Given the description of an element on the screen output the (x, y) to click on. 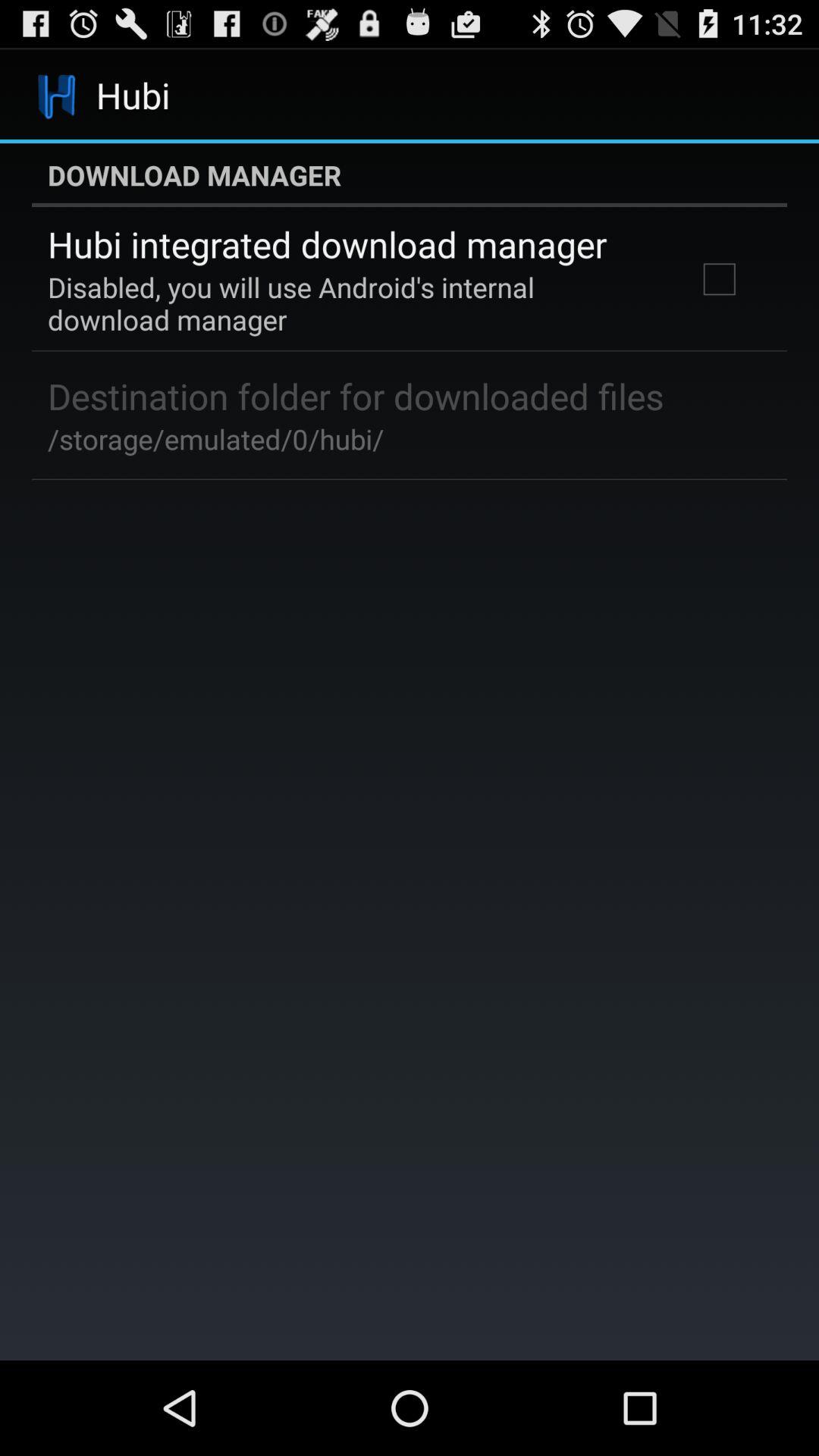
choose disabled you will (351, 303)
